Given the description of an element on the screen output the (x, y) to click on. 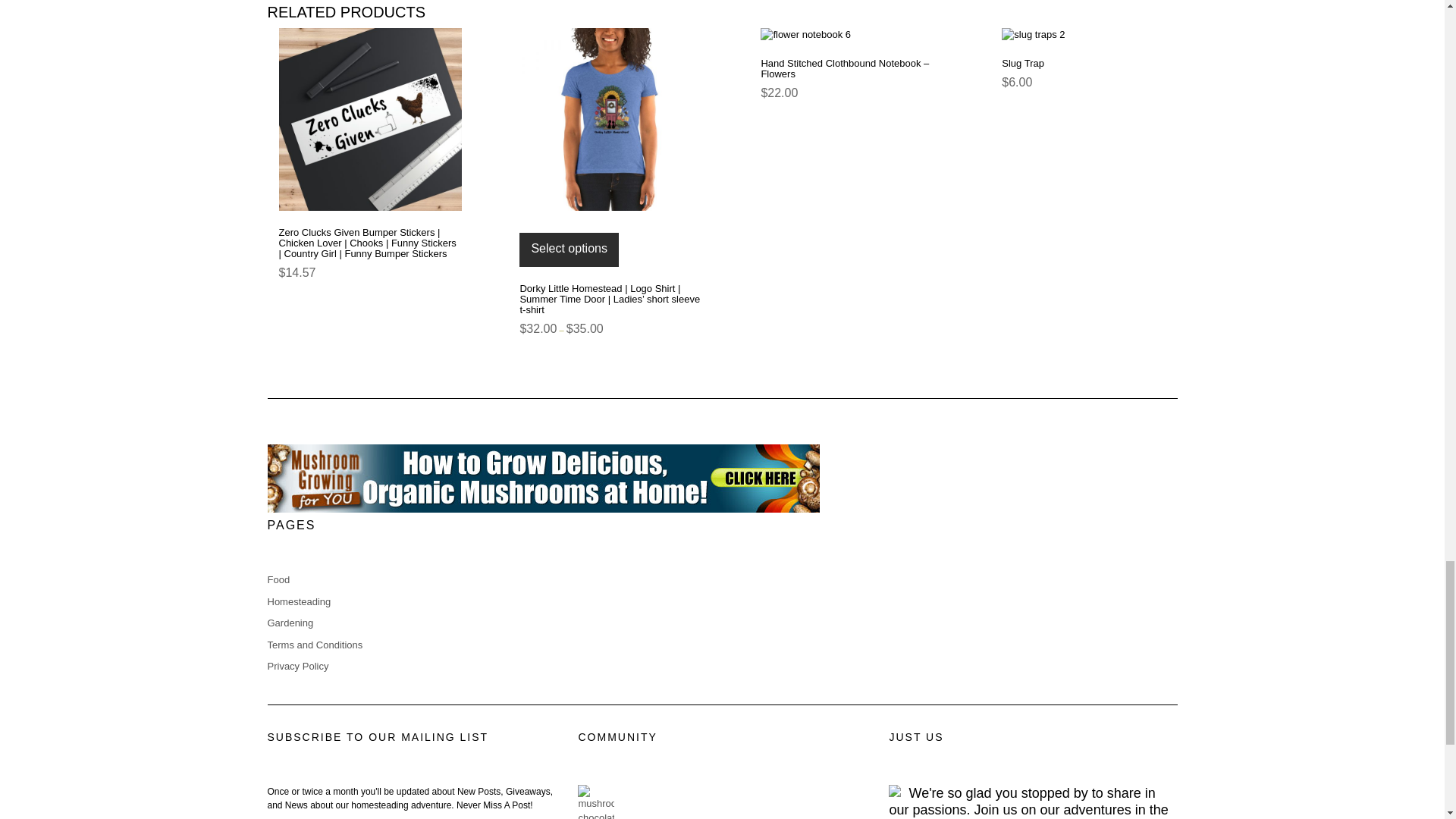
slug traps 2 (1093, 34)
71930.jpg (370, 118)
flower notebook 6 (851, 34)
womens-tri-blend-tee-blue-triblend-front-60d24999ae1ef.jpg (610, 118)
